Given the description of an element on the screen output the (x, y) to click on. 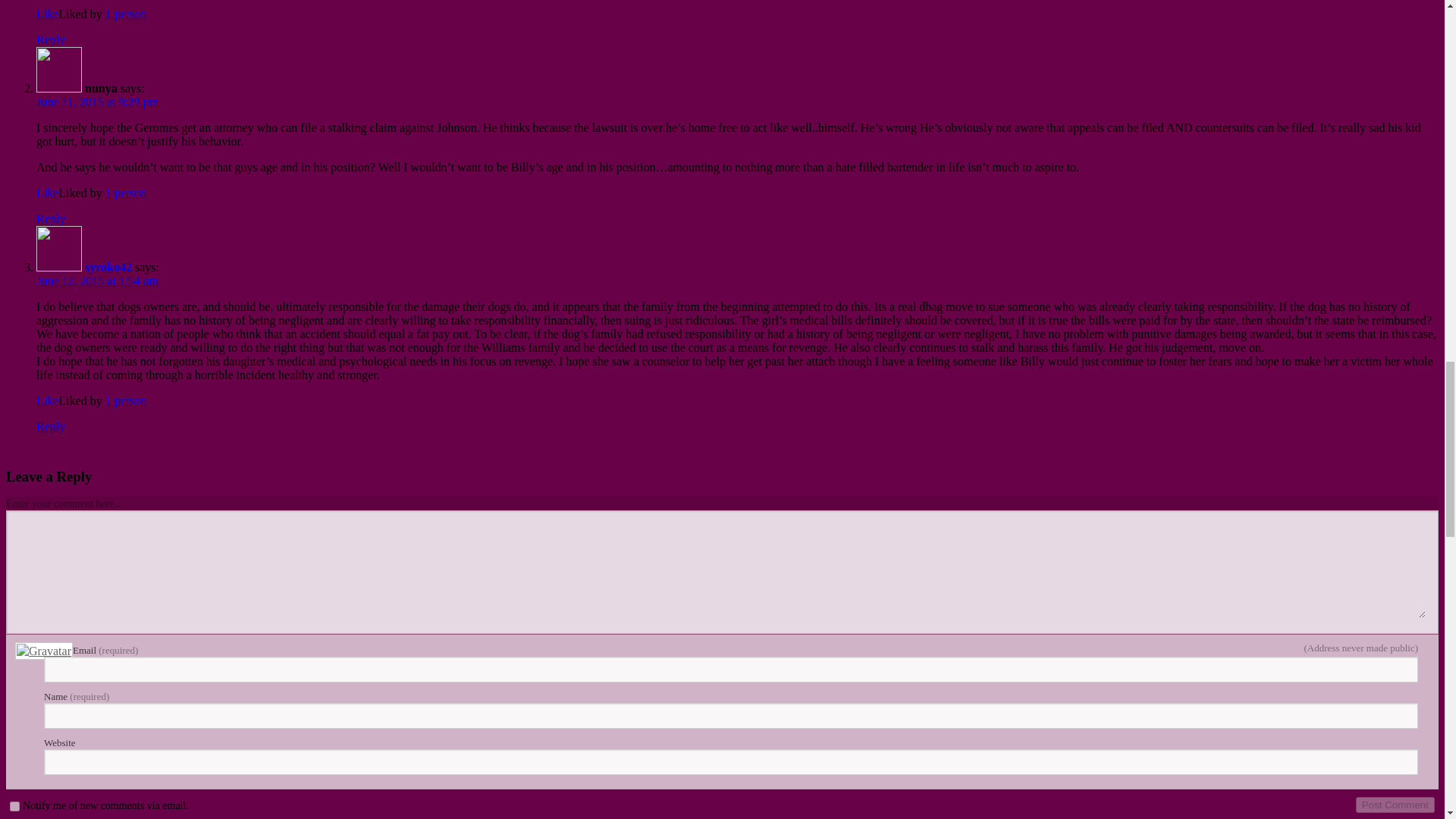
Enter your comment here... (721, 570)
subscribe (15, 806)
